Given the description of an element on the screen output the (x, y) to click on. 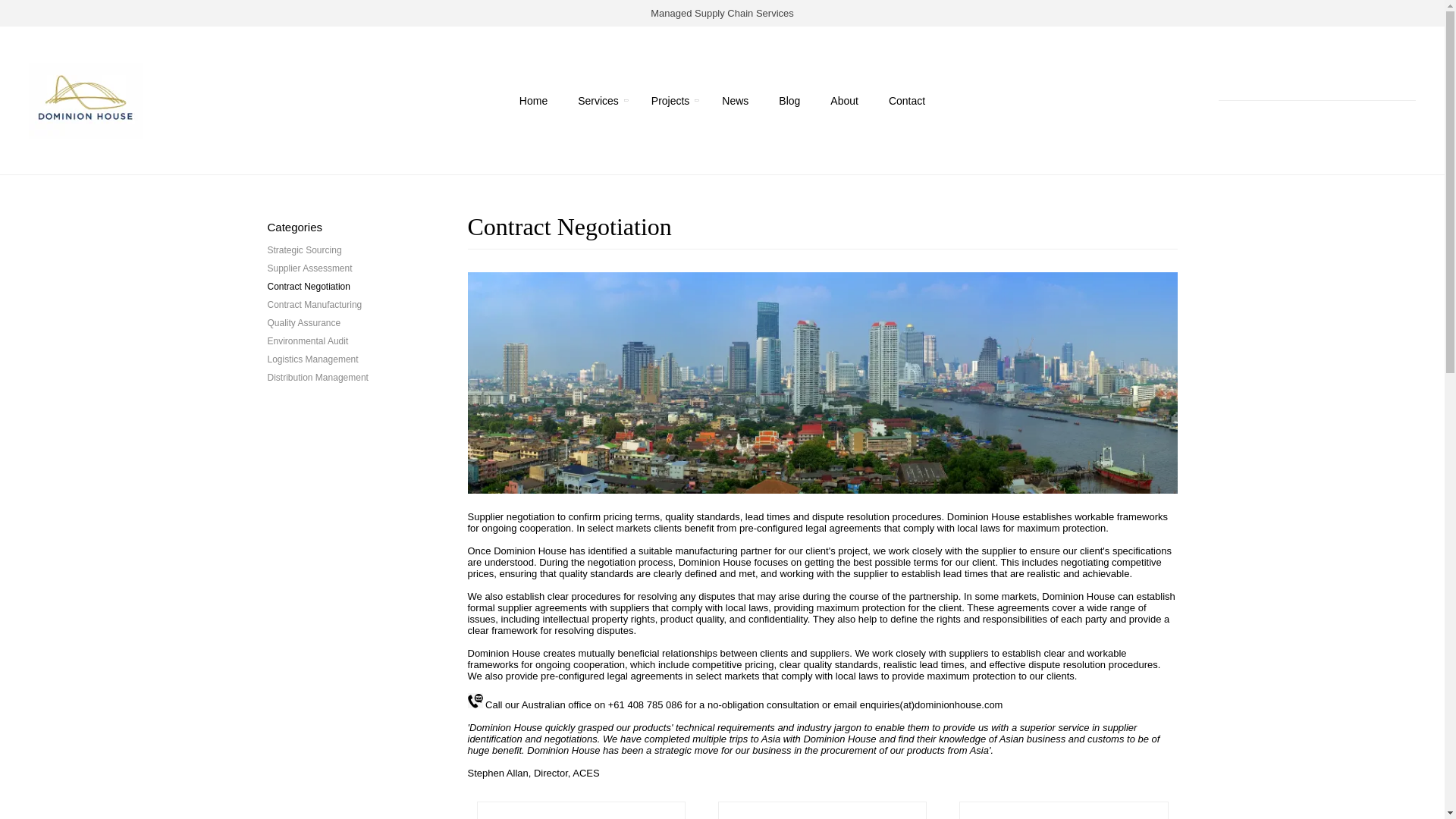
Projects (670, 100)
News (735, 100)
Home (533, 100)
About (844, 100)
Home (533, 100)
Contact (906, 100)
Blog (788, 100)
